Given the description of an element on the screen output the (x, y) to click on. 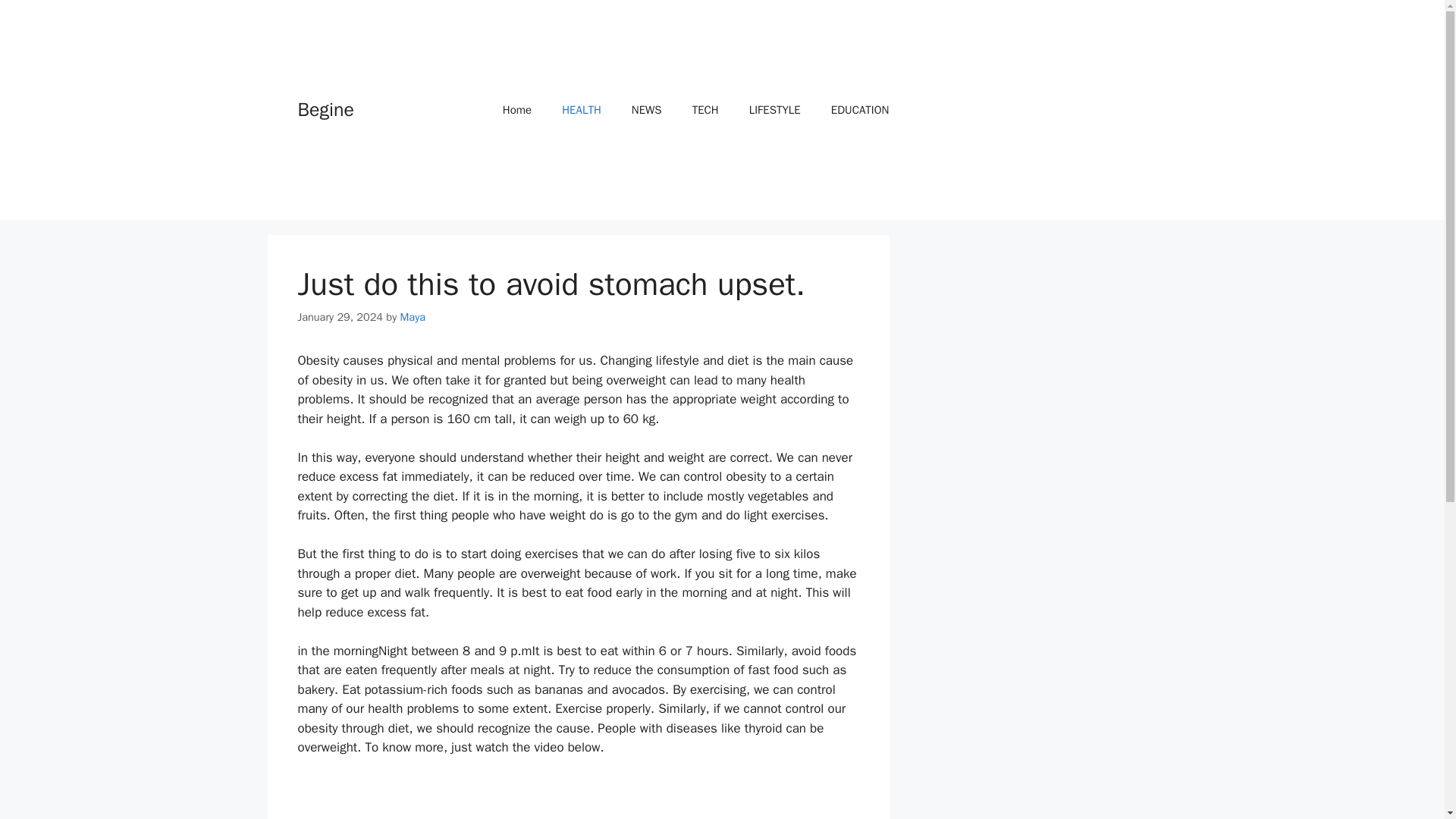
Maya (412, 316)
TECH (705, 109)
HEALTH (581, 109)
LIFESTYLE (774, 109)
EDUCATION (859, 109)
NEWS (646, 109)
Home (517, 109)
Begine (325, 109)
View all posts by Maya (412, 316)
